Given the description of an element on the screen output the (x, y) to click on. 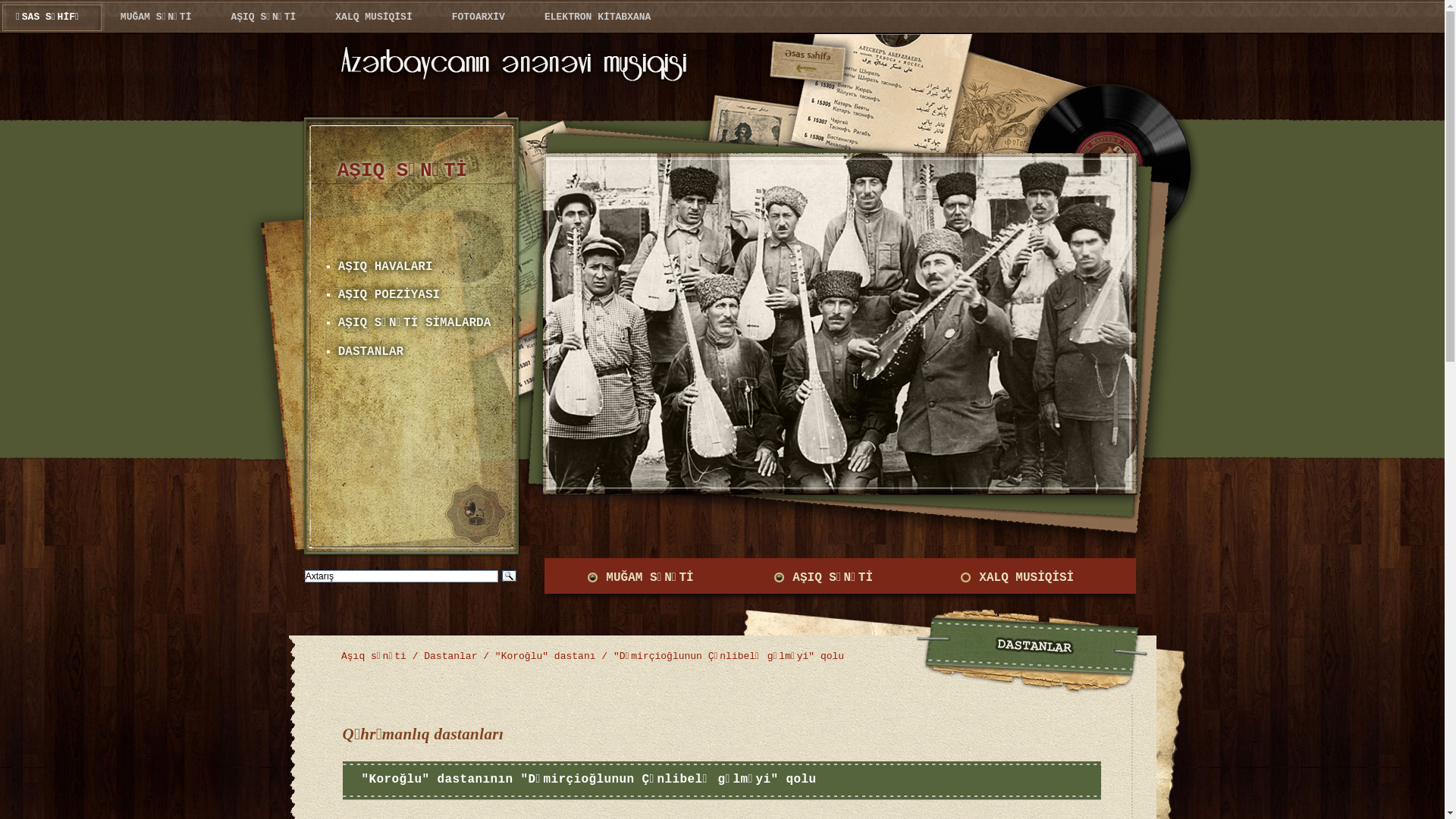
Dastanlar Element type: text (449, 656)
DASTANLAR Element type: text (370, 350)
